Given the description of an element on the screen output the (x, y) to click on. 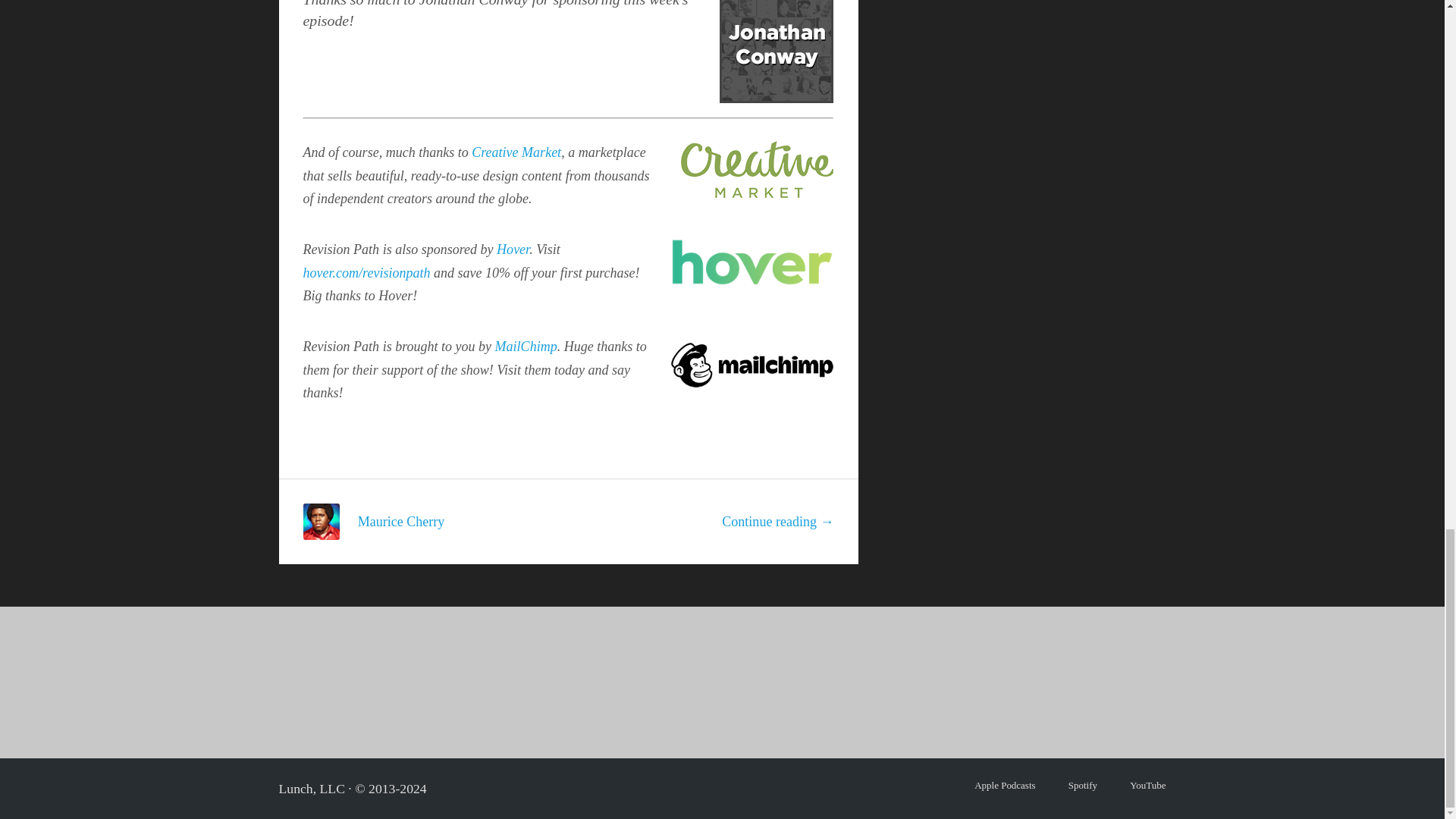
Hover (512, 249)
MailChimp (526, 346)
Apple Podcasts (1004, 785)
YouTube (1147, 785)
Spotify (1082, 785)
Creative Market (515, 151)
Maurice Cherry (401, 521)
